Given the description of an element on the screen output the (x, y) to click on. 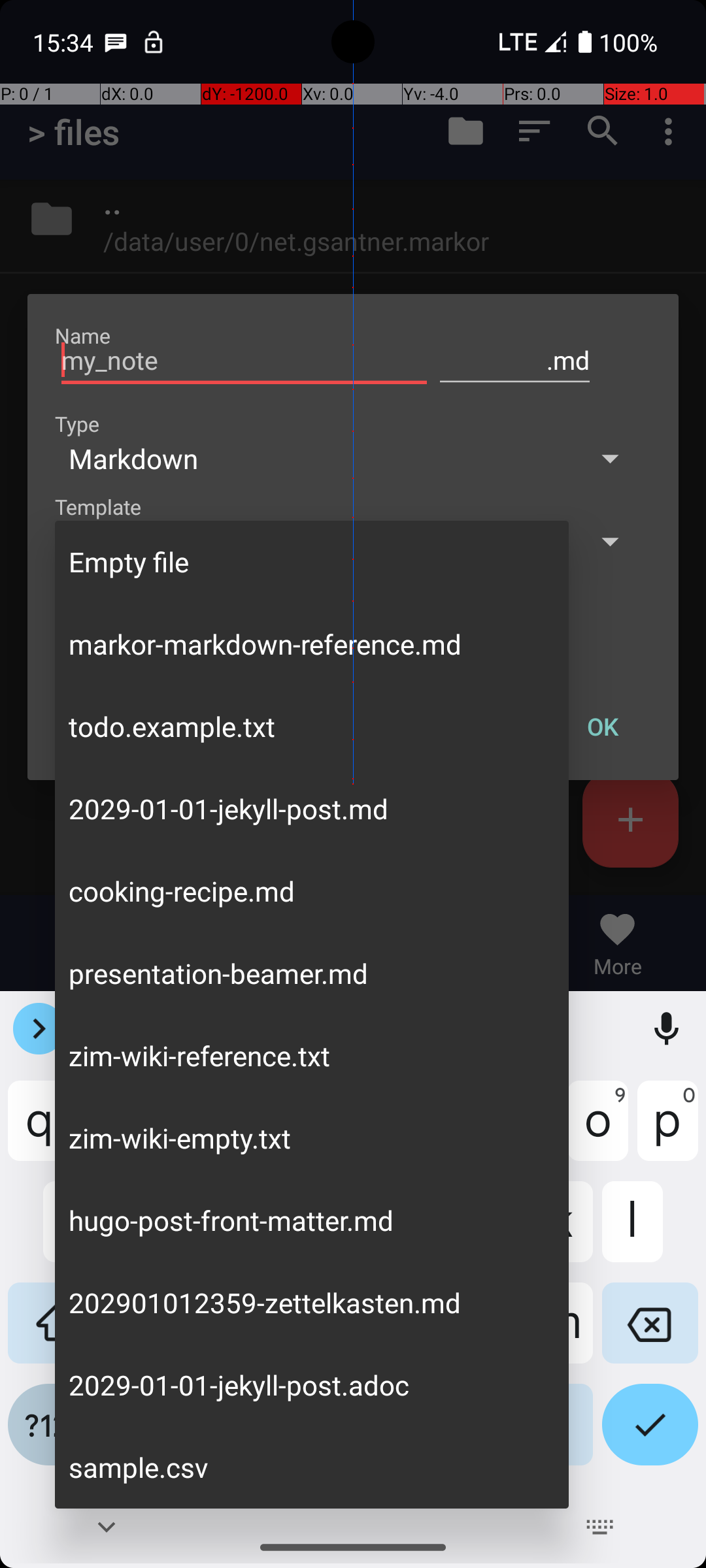
markor-markdown-reference.md Element type: android.widget.CheckedTextView (311, 644)
todo.example.txt Element type: android.widget.CheckedTextView (311, 726)
2029-01-01-jekyll-post.md Element type: android.widget.CheckedTextView (311, 808)
cooking-recipe.md Element type: android.widget.CheckedTextView (311, 890)
presentation-beamer.md Element type: android.widget.CheckedTextView (311, 973)
zim-wiki-reference.txt Element type: android.widget.CheckedTextView (311, 1055)
zim-wiki-empty.txt Element type: android.widget.CheckedTextView (311, 1137)
hugo-post-front-matter.md Element type: android.widget.CheckedTextView (311, 1220)
202901012359-zettelkasten.md Element type: android.widget.CheckedTextView (311, 1302)
2029-01-01-jekyll-post.adoc Element type: android.widget.CheckedTextView (311, 1384)
sample.csv Element type: android.widget.CheckedTextView (311, 1467)
